Given the description of an element on the screen output the (x, y) to click on. 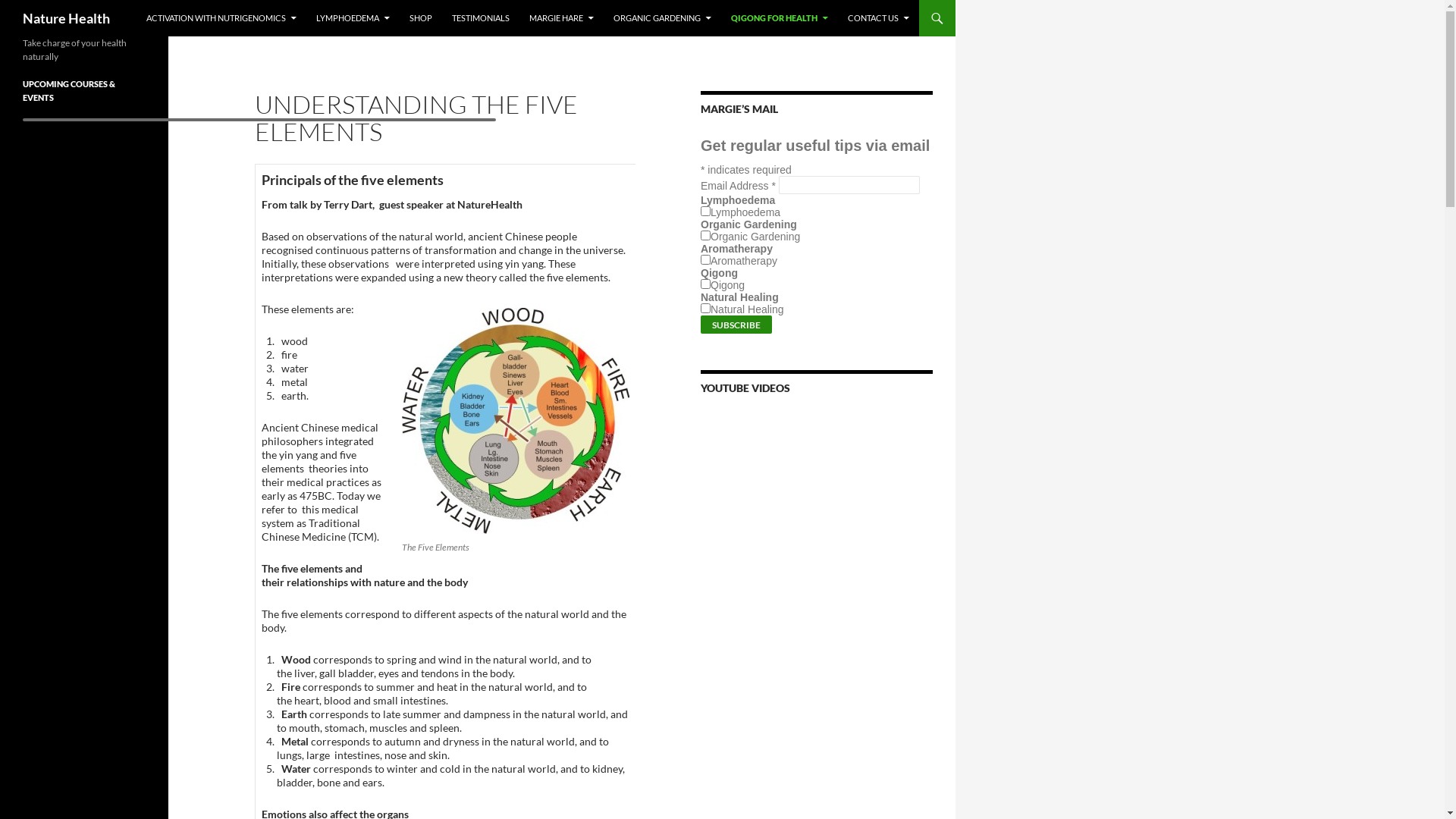
MARGIE HARE Element type: text (561, 18)
SHOP Element type: text (420, 18)
LYMPHOEDEMA Element type: text (352, 18)
YouTube Video Player Element type: hover (816, 606)
YouTube Video Player Element type: hover (816, 476)
ORGANIC GARDENING Element type: text (662, 18)
SKIP TO CONTENT Element type: text (146, 0)
CONTACT US Element type: text (878, 18)
ACTIVATION WITH NUTRIGENOMICS Element type: text (221, 18)
QIGONG FOR HEALTH Element type: text (779, 18)
YouTube Video Player Element type: hover (816, 736)
Nature Health Element type: text (65, 18)
Subscribe Element type: text (735, 324)
TESTIMONIALS Element type: text (480, 18)
